Given the description of an element on the screen output the (x, y) to click on. 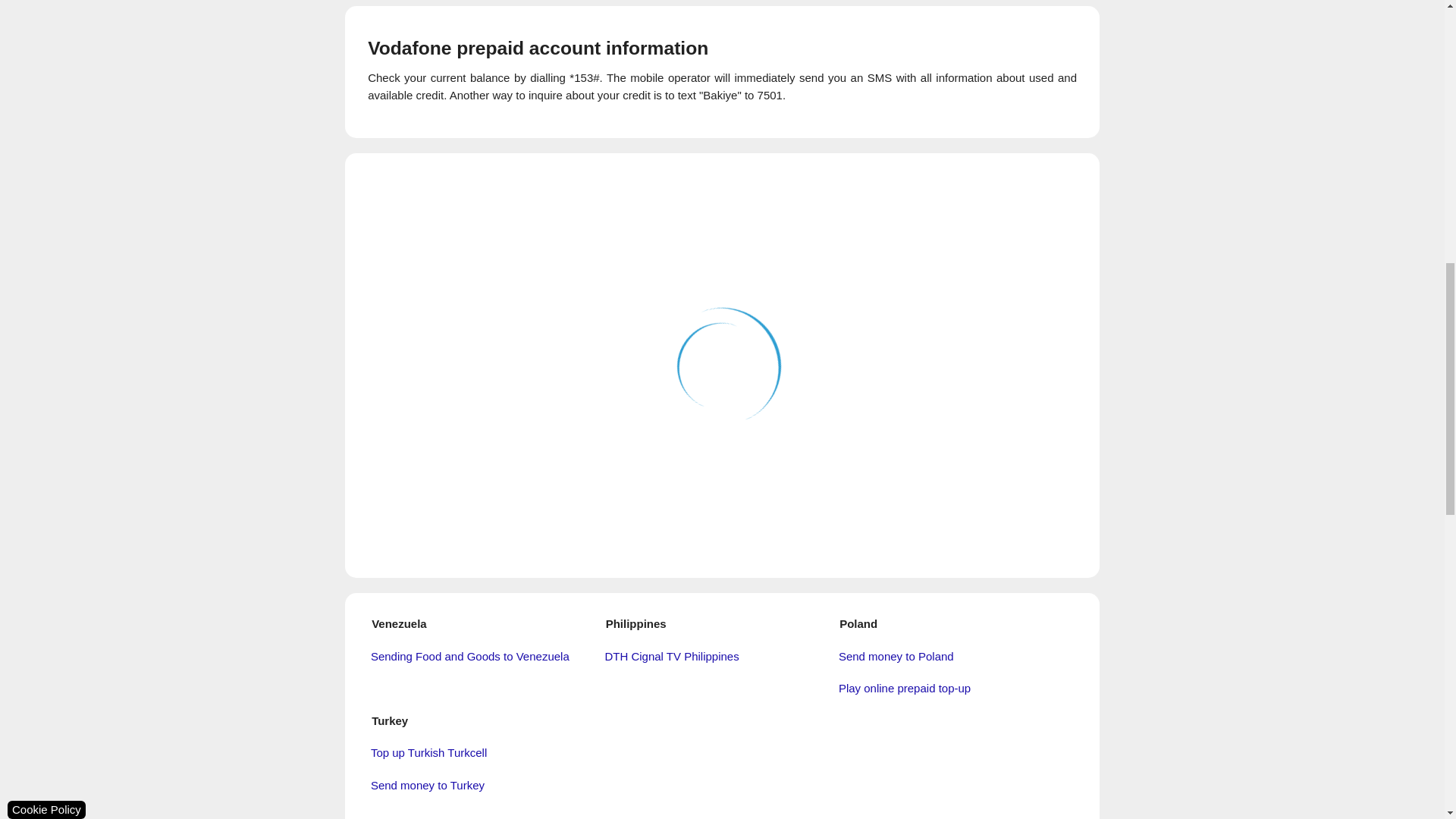
Play online prepaid top-up (958, 688)
Send money to Turkey (490, 785)
Send money to Poland (958, 656)
Sending Food and Goods to Venezuela (490, 656)
Top up Turkish Turkcell (490, 753)
DTH Cignal TV Philippines (724, 656)
